Given the description of an element on the screen output the (x, y) to click on. 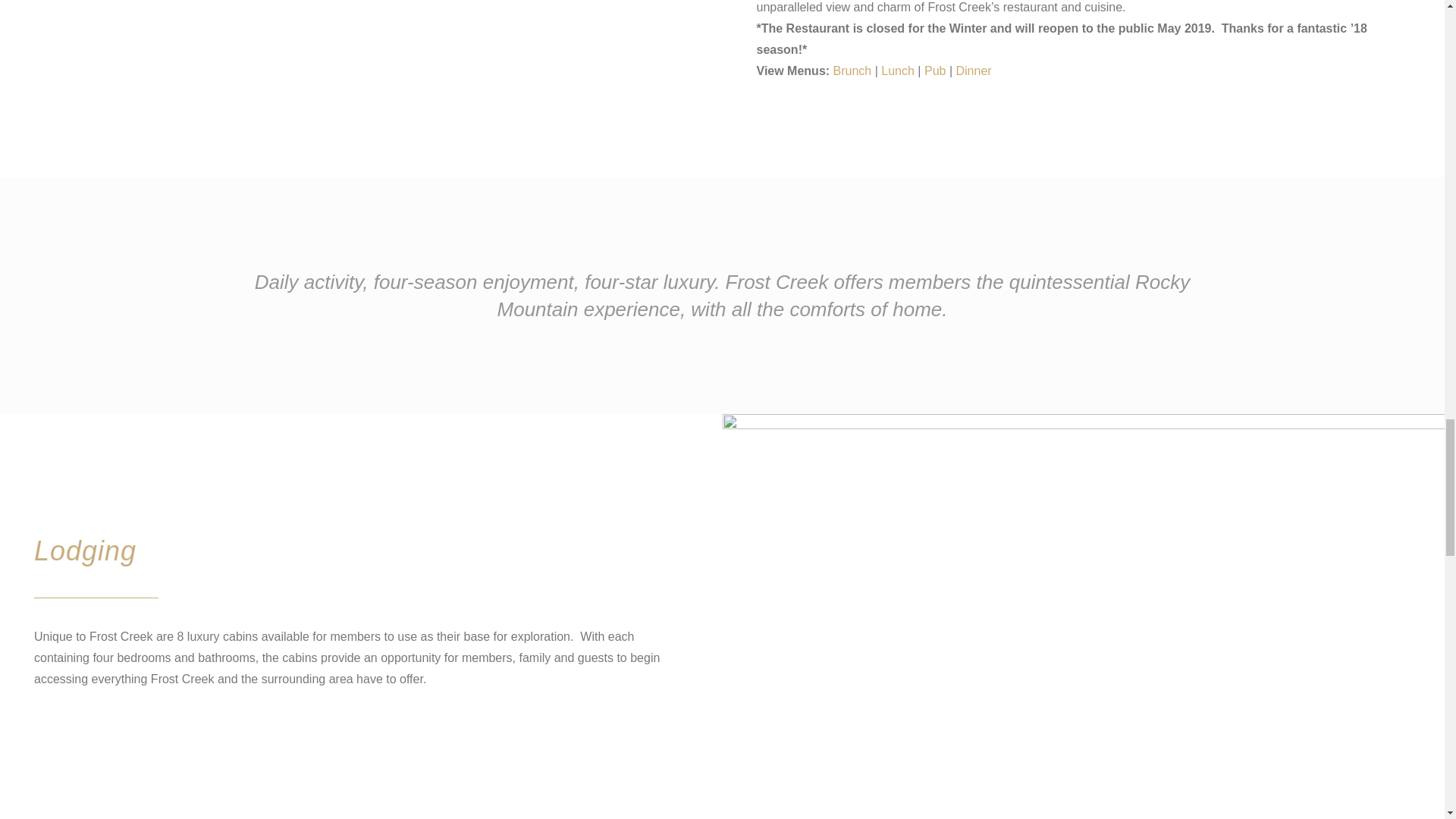
Dinner (973, 70)
Pub (934, 70)
Brunch (852, 70)
Lunch (897, 70)
